Given the description of an element on the screen output the (x, y) to click on. 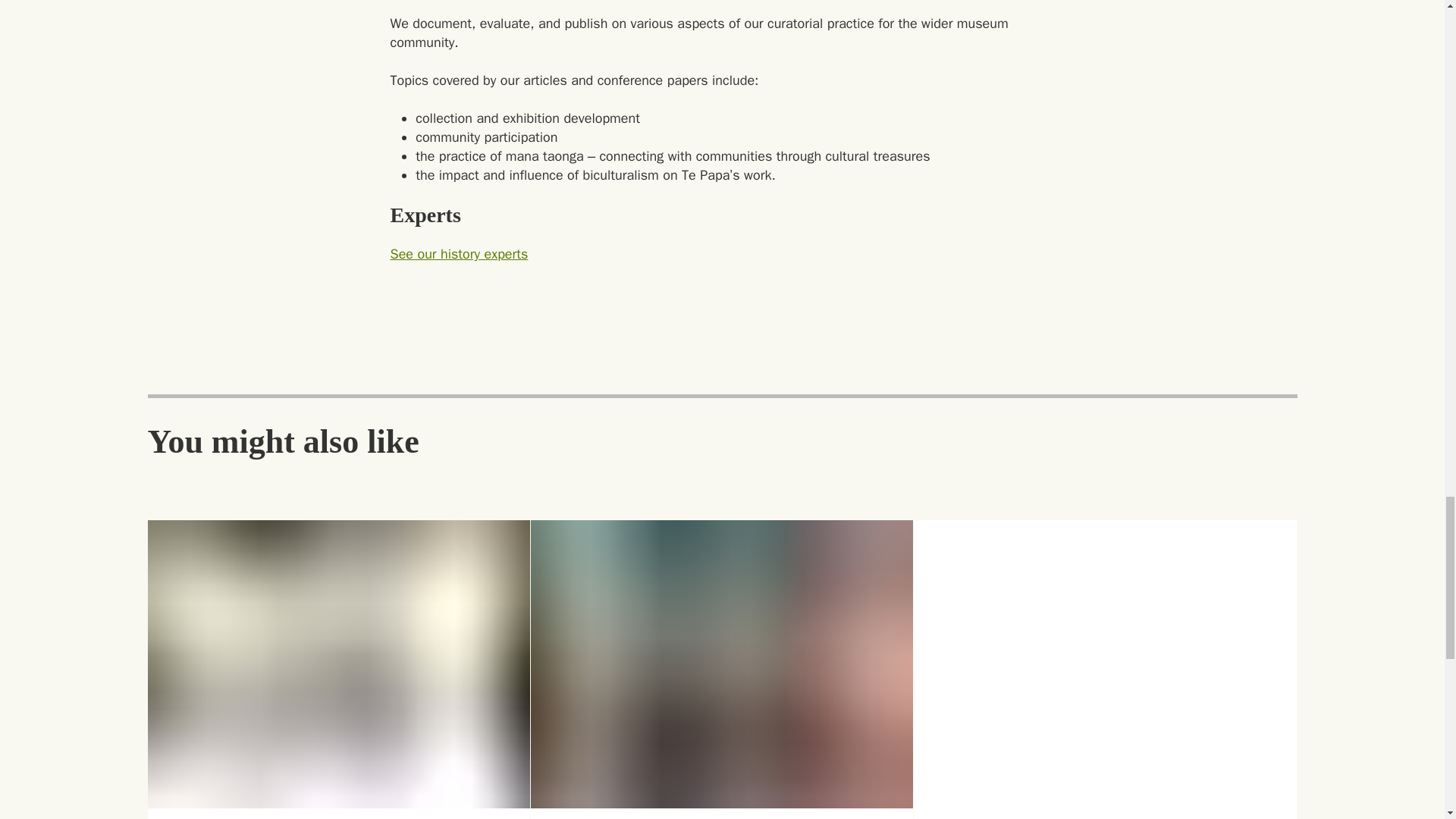
History on Collections Online (1105, 816)
See our history experts (458, 253)
